Given the description of an element on the screen output the (x, y) to click on. 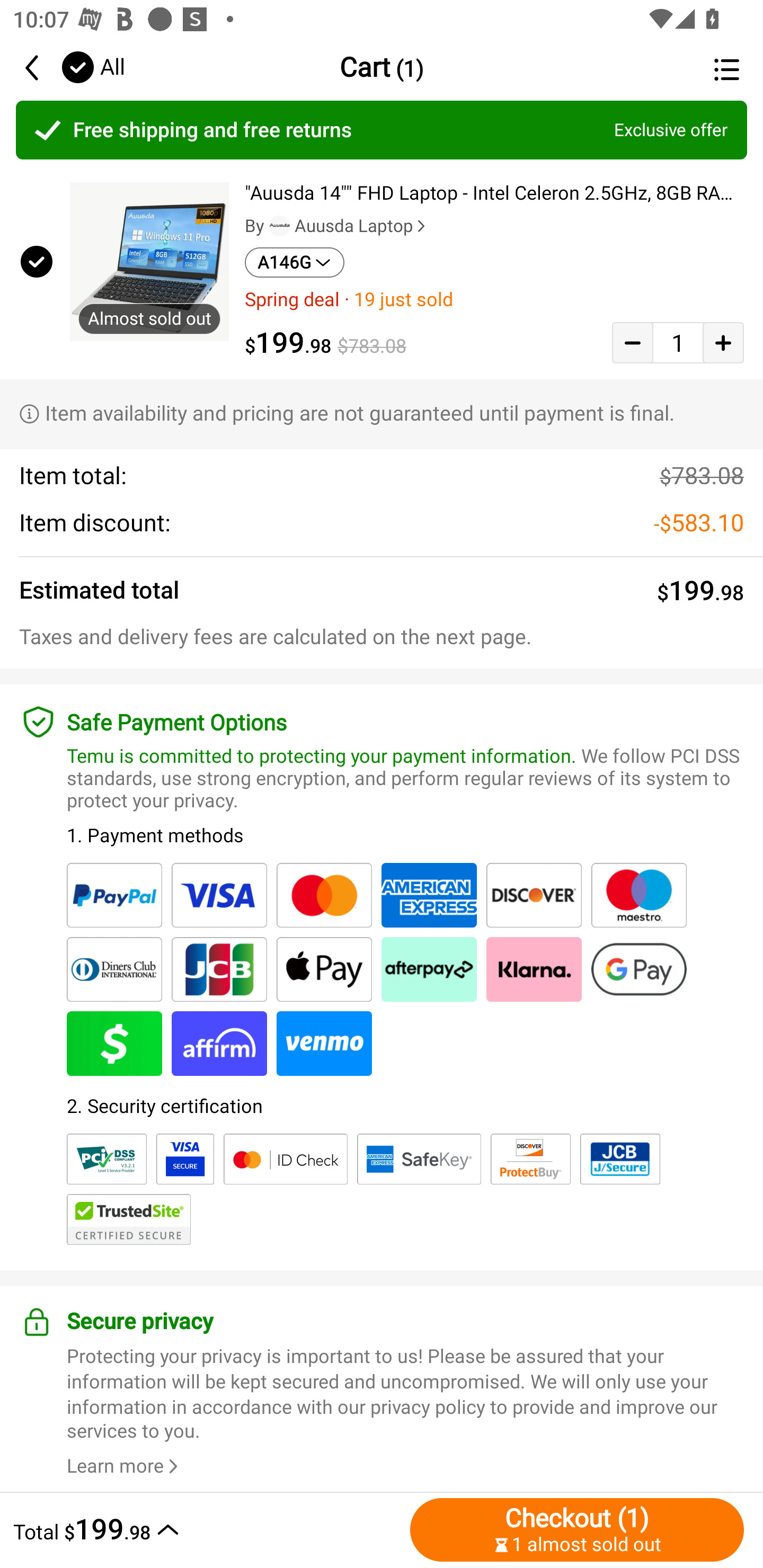
back (41, 67)
Deselect all tick button All (92, 67)
Free shipping and free returns Exclusive offer (381, 129)
Product checkbox checked (35, 260)
By Auusda Laptop (336, 226)
A146G (294, 262)
Spring deal · 19 just sold (493, 299)
Decrease quantity button (632, 342)
1 (677, 342)
Add quantity button (722, 342)
Learn more (125, 1466)
Total $199.98 (206, 1529)
Checkout Checkout (1) ￼1 almost sold out (576, 1529)
